Given the description of an element on the screen output the (x, y) to click on. 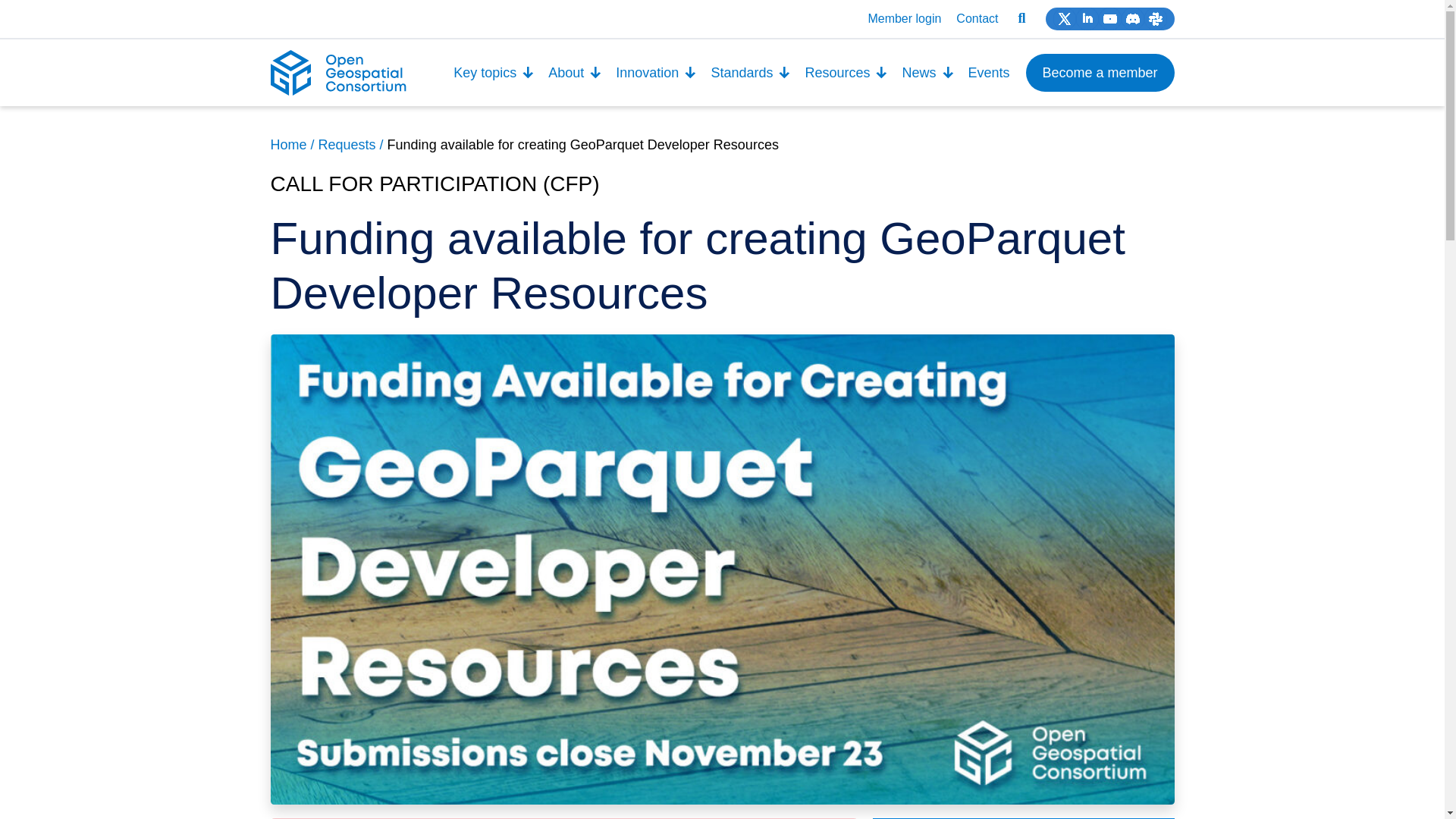
Key topics (493, 72)
Standards (750, 72)
Innovation (655, 72)
Contact (977, 18)
Member login (904, 18)
About (574, 72)
